Given the description of an element on the screen output the (x, y) to click on. 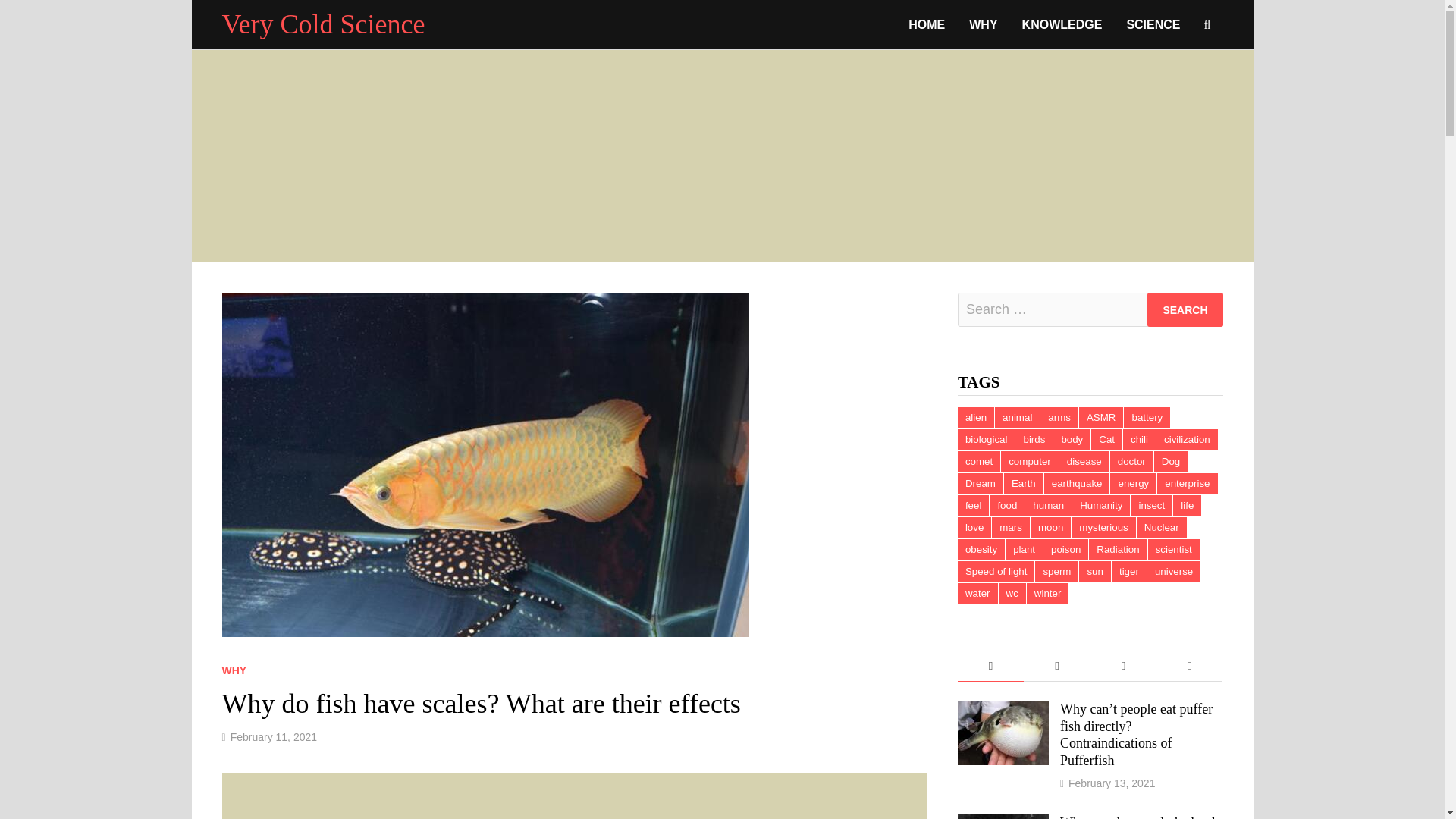
WHY (982, 24)
alien (976, 417)
animal (1016, 417)
Search (1185, 309)
Search (1185, 309)
SCIENCE (1152, 24)
Very Cold Science (323, 24)
KNOWLEDGE (1062, 24)
Search (1185, 309)
Advertisement (573, 796)
February 11, 2021 (273, 736)
WHY (233, 670)
HOME (926, 24)
